Given the description of an element on the screen output the (x, y) to click on. 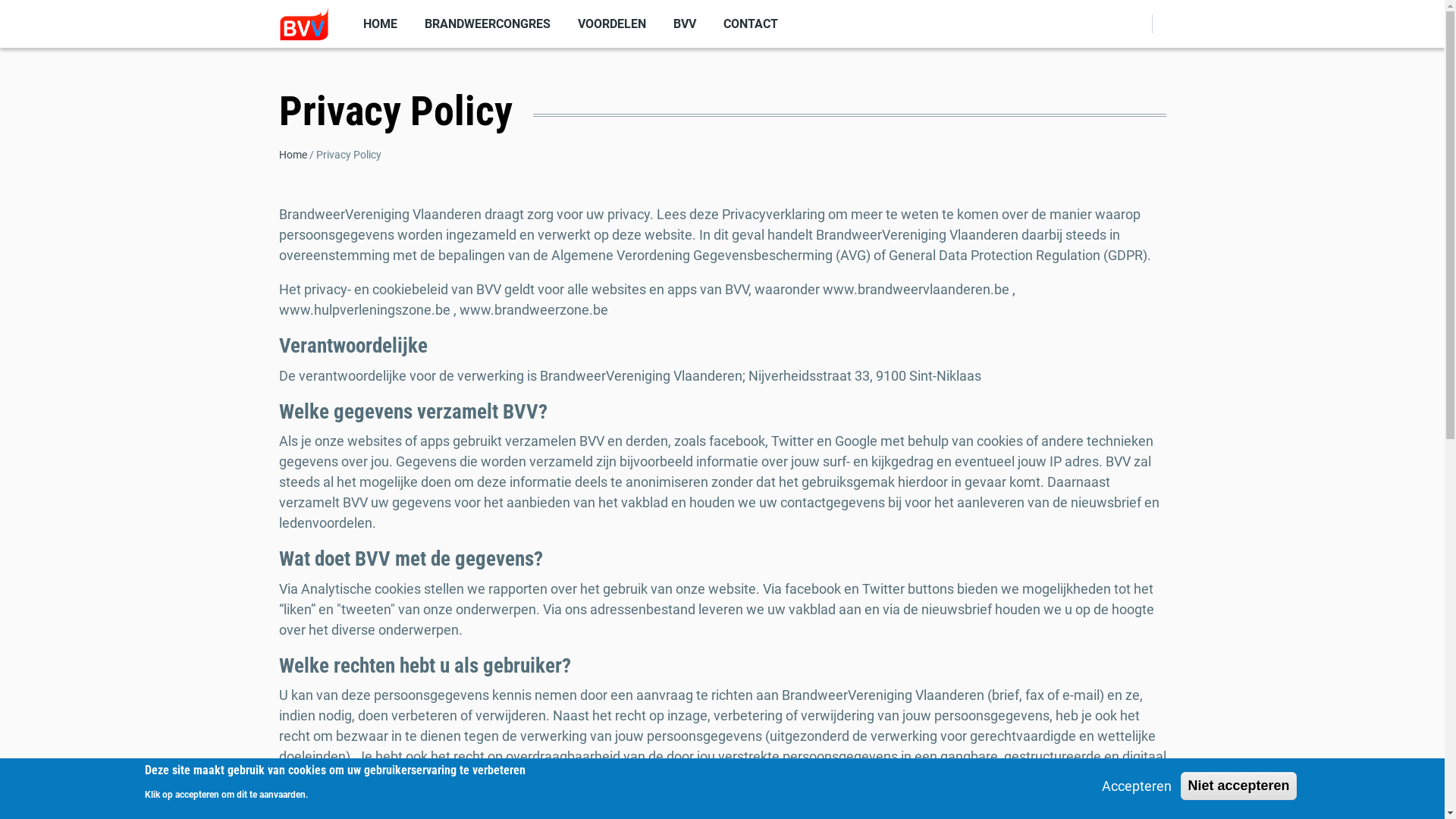
VOORDELEN Element type: text (611, 23)
BRANDWEERCONGRES Element type: text (487, 23)
HOME Element type: text (379, 23)
BVV Element type: text (684, 23)
Home Element type: text (293, 154)
Zoeken Element type: text (1130, 69)
Accepteren Element type: text (1136, 785)
Overslaan en naar de inhoud gaan Element type: text (0, 0)
Niet accepteren Element type: text (1237, 785)
CONTACT Element type: text (750, 23)
